Given the description of an element on the screen output the (x, y) to click on. 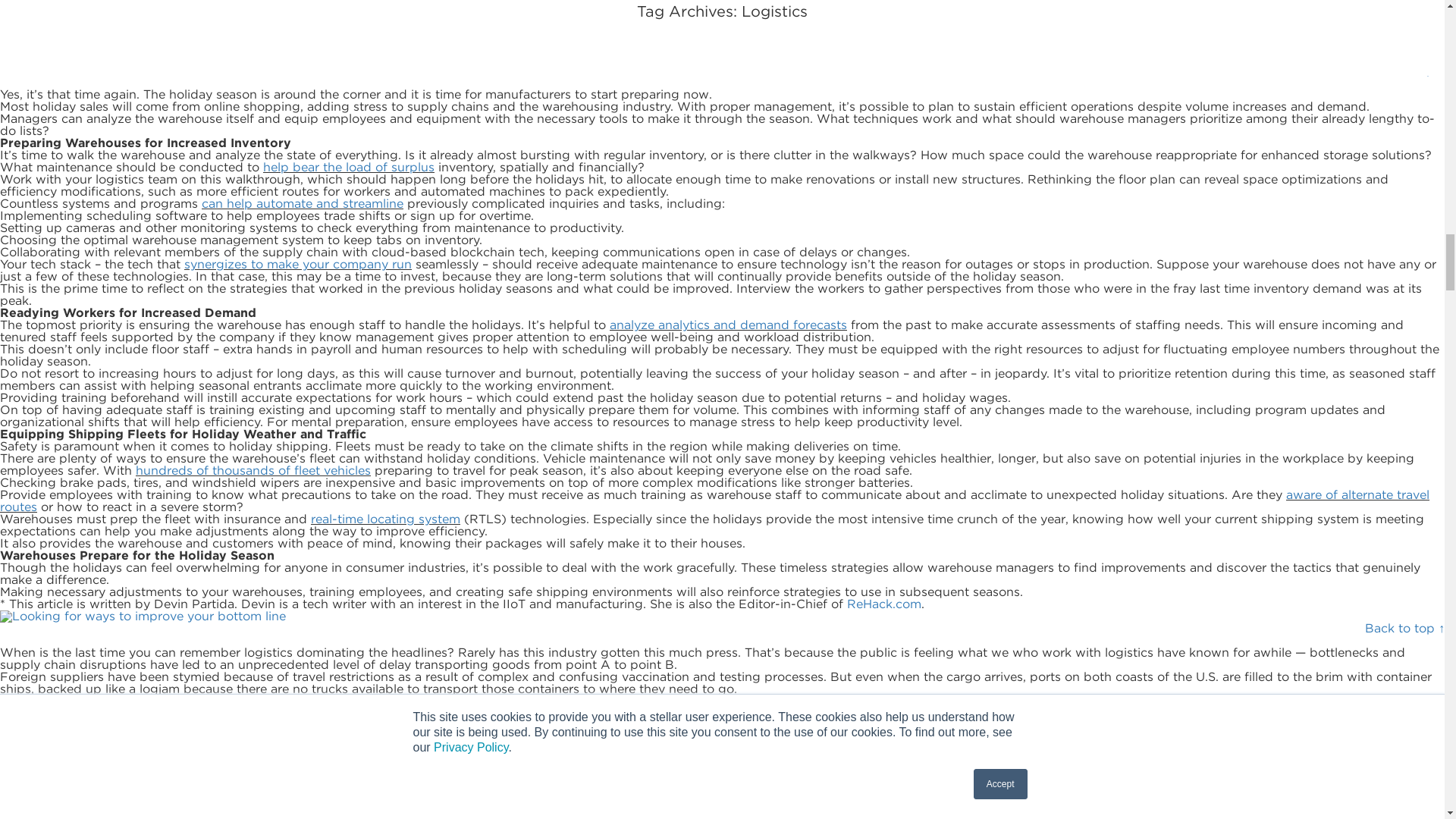
can help automate and streamline (302, 203)
synergizes to make your company run (298, 264)
real-time locating system (385, 518)
analyze analytics and demand forecasts (728, 324)
aware of alternate travel routes (714, 500)
hundreds of thousands of fleet vehicles (253, 470)
help bear the load of surplus (348, 166)
ReHack.com (884, 603)
USC Consulting Group today (708, 51)
